Given the description of an element on the screen output the (x, y) to click on. 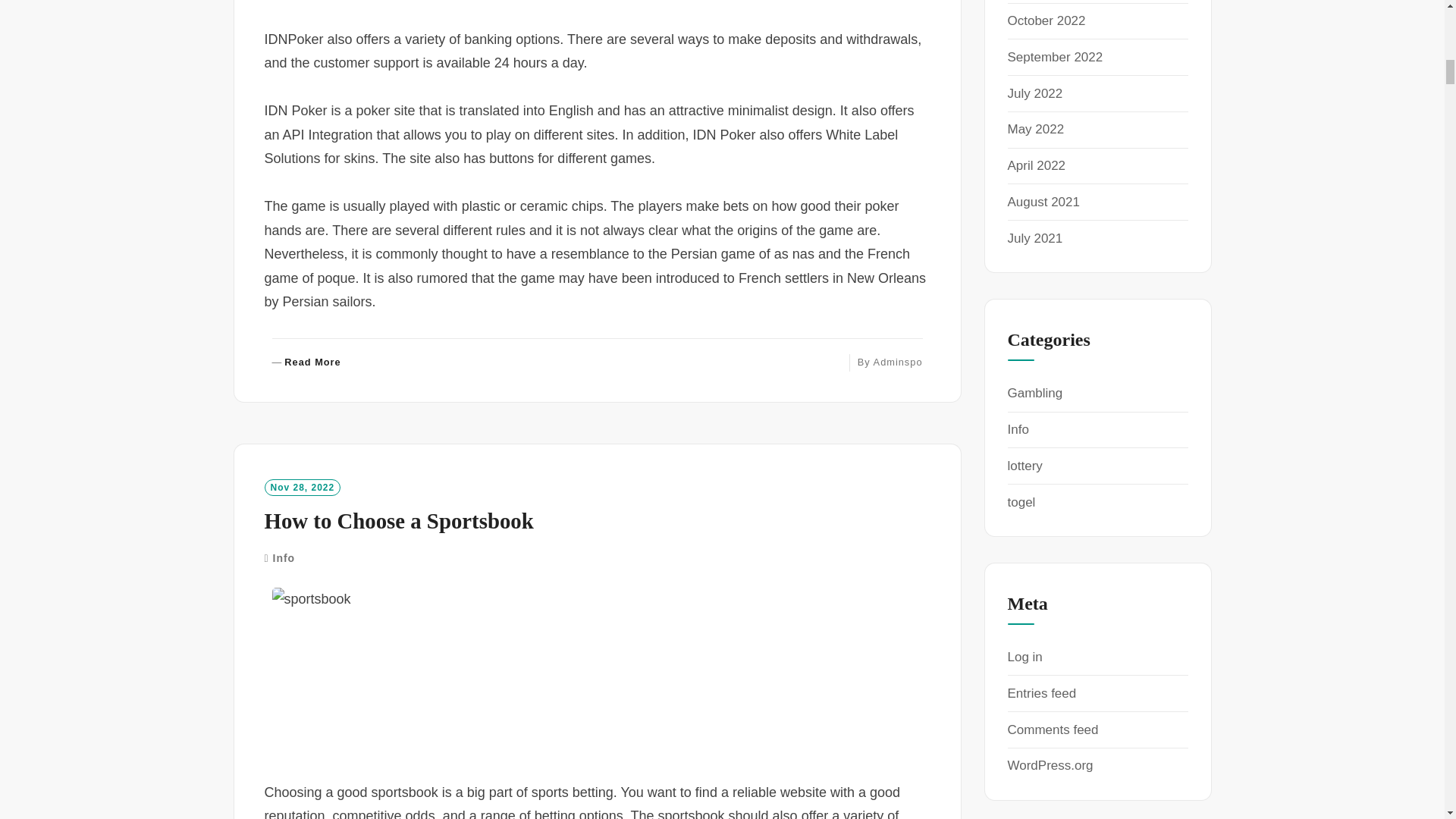
Info (305, 362)
Adminspo (284, 558)
Nov 28, 2022 (898, 361)
How to Choose a Sportsbook (301, 487)
